Given the description of an element on the screen output the (x, y) to click on. 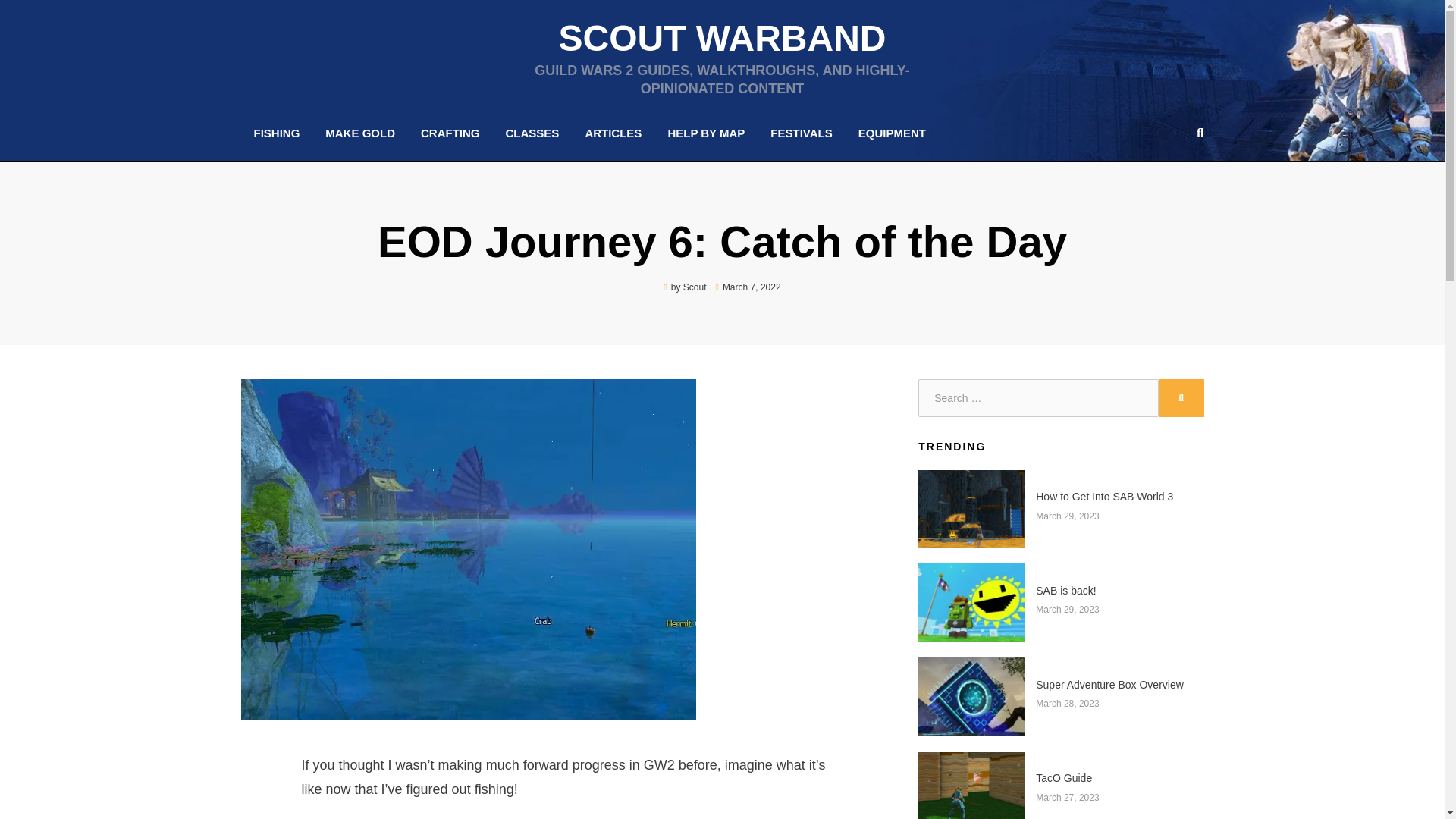
ARTICLES (612, 132)
SCOUT WARBAND (721, 38)
MAKE GOLD (360, 132)
CRAFTING (450, 132)
Scout Warband (721, 38)
Search (1196, 132)
HELP BY MAP (705, 132)
FISHING (277, 132)
CLASSES (532, 132)
Search for: (1037, 397)
